Given the description of an element on the screen output the (x, y) to click on. 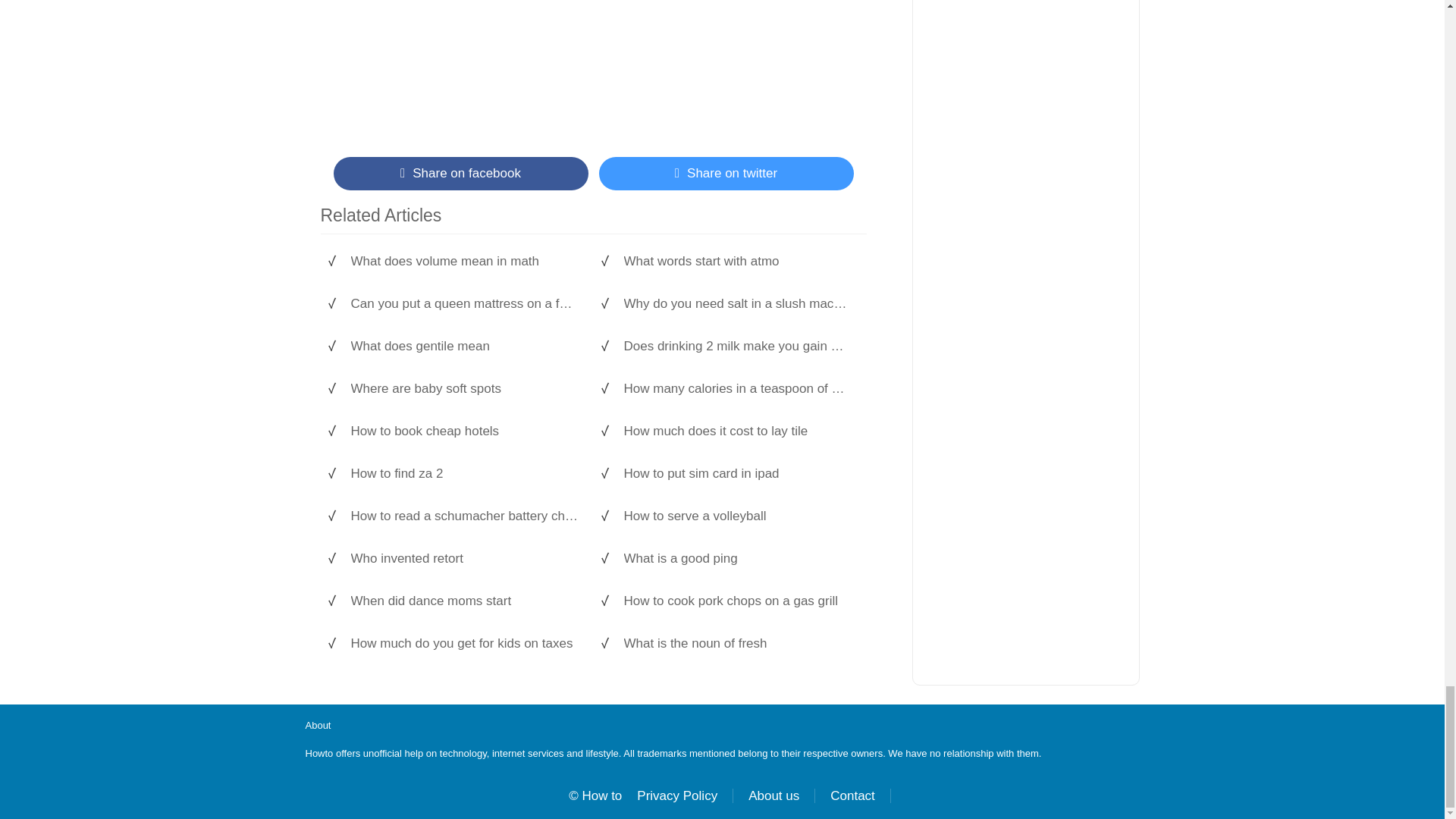
How to find za 2 (464, 473)
How to read a schumacher battery charger (464, 516)
What does gentile mean (464, 346)
Share on Facebook (460, 173)
What is the noun of fresh (736, 643)
Why do you need salt in a slush machine (736, 304)
What words start with atmo (736, 261)
How to book cheap hotels (464, 431)
How much do you get for kids on taxes (464, 643)
How to cook pork chops on a gas grill (736, 601)
